Given the description of an element on the screen output the (x, y) to click on. 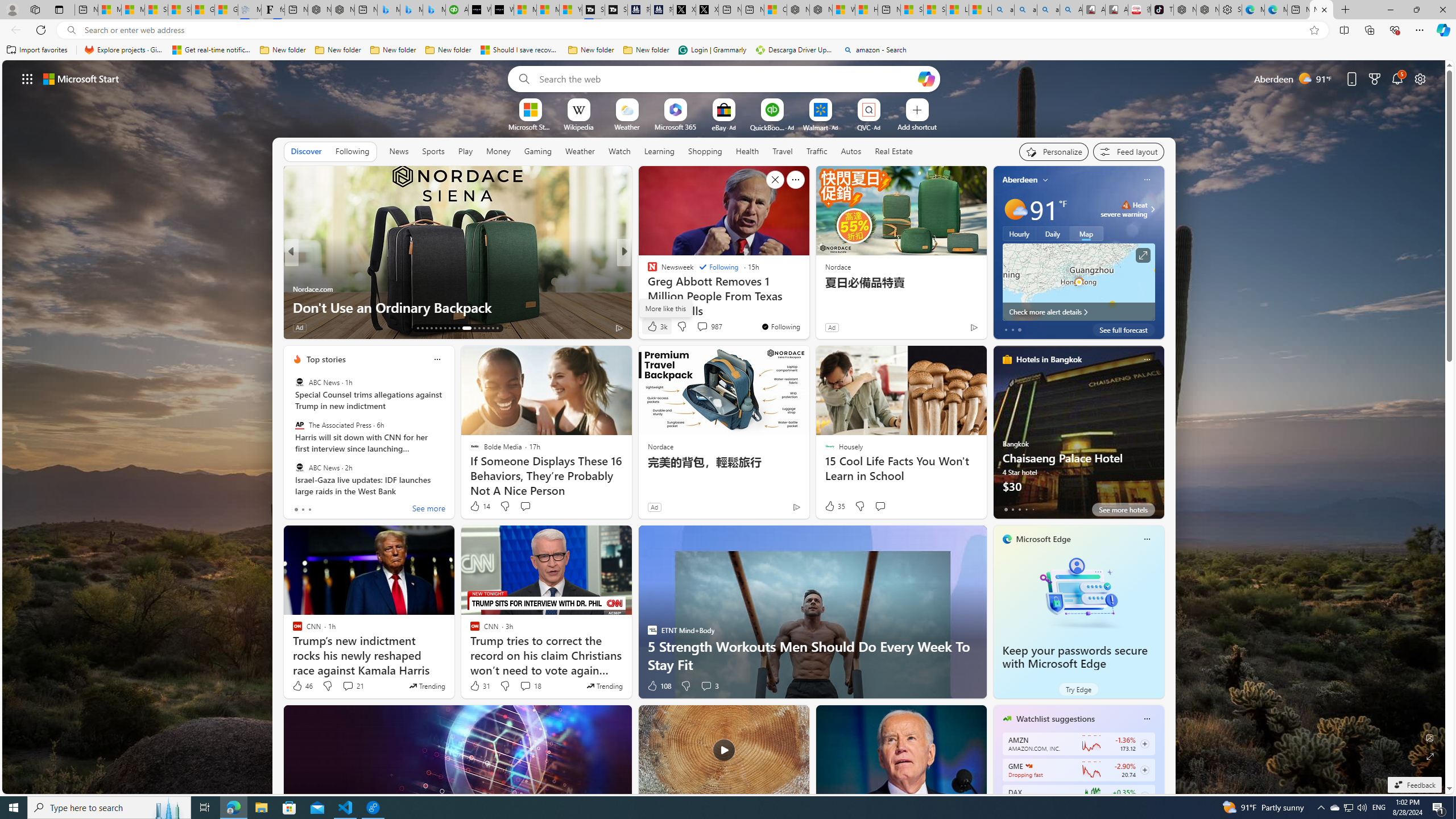
New folder (646, 49)
Start the conversation (880, 505)
Feed settings (1128, 151)
Microsoft Start (547, 9)
Page settings (1420, 78)
View comments 987 Comment (701, 326)
AutomationID: tab-18 (440, 328)
Notifications (1397, 78)
Click to see more information (1142, 255)
What's the best AI voice generator? - voice.ai (502, 9)
69 Like (652, 327)
Address and search bar (692, 29)
